Given the description of an element on the screen output the (x, y) to click on. 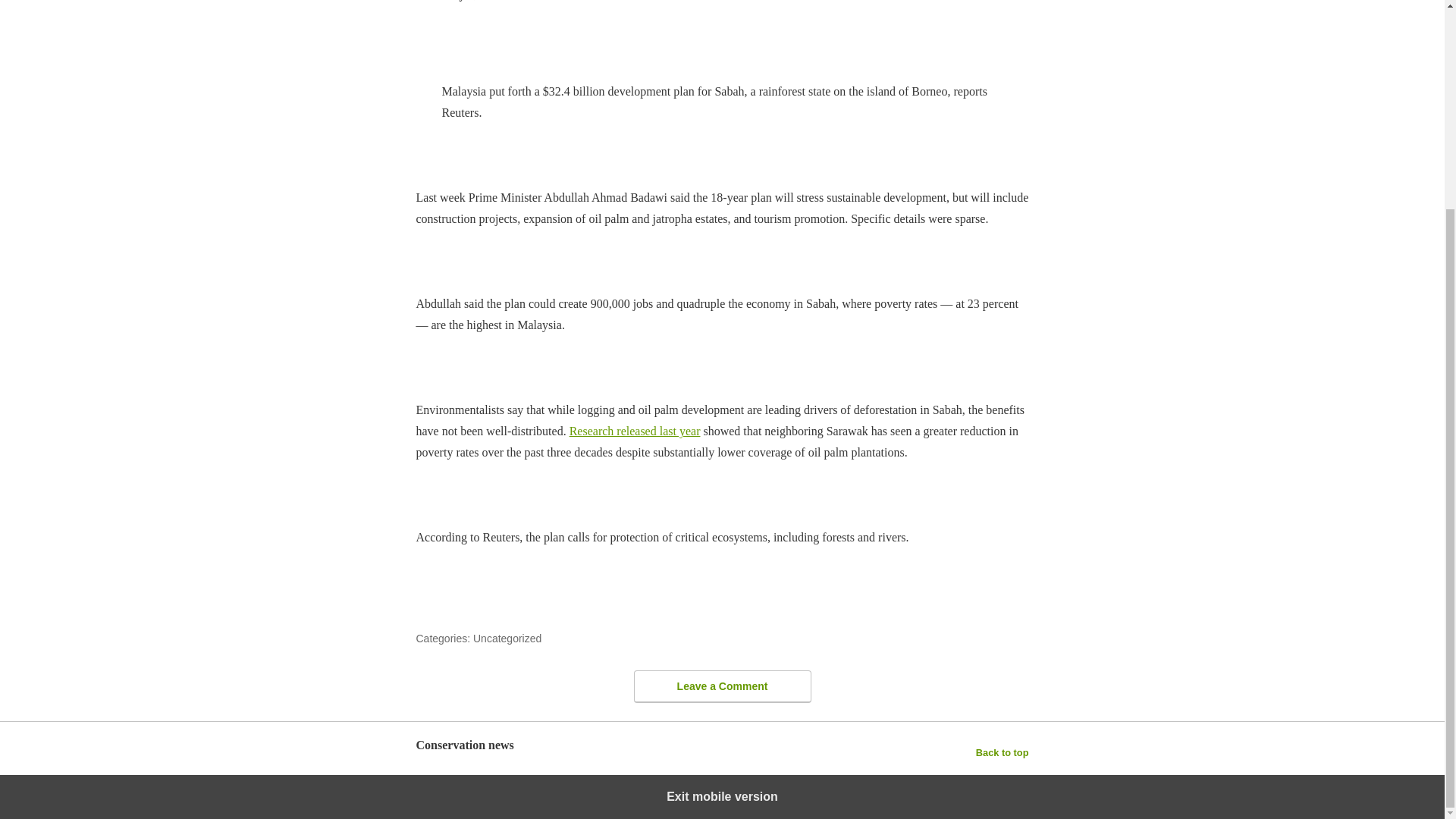
Leave a Comment (721, 686)
Research released last year (634, 431)
Back to top (1002, 752)
